Given the description of an element on the screen output the (x, y) to click on. 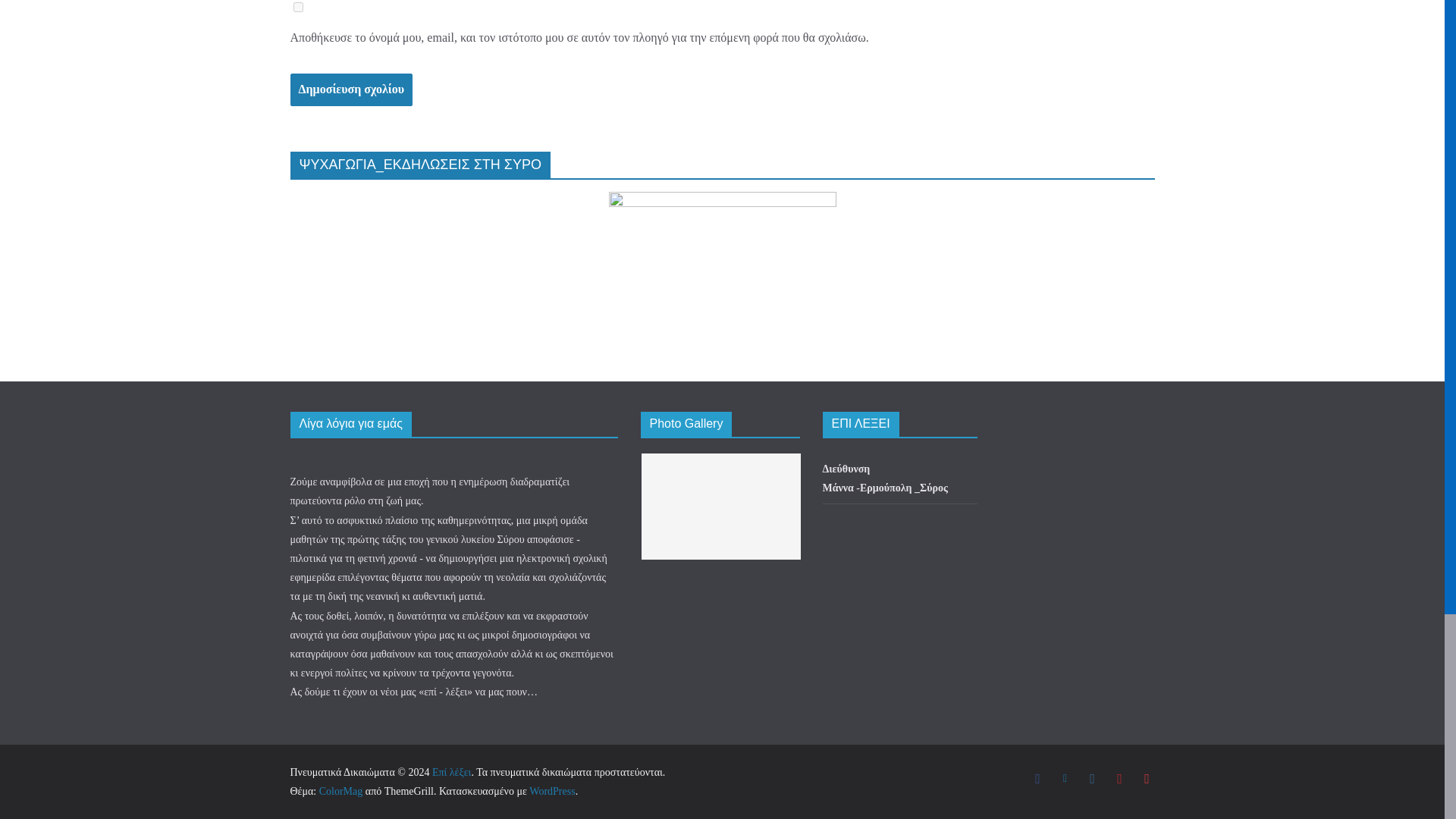
yes (297, 7)
